Given the description of an element on the screen output the (x, y) to click on. 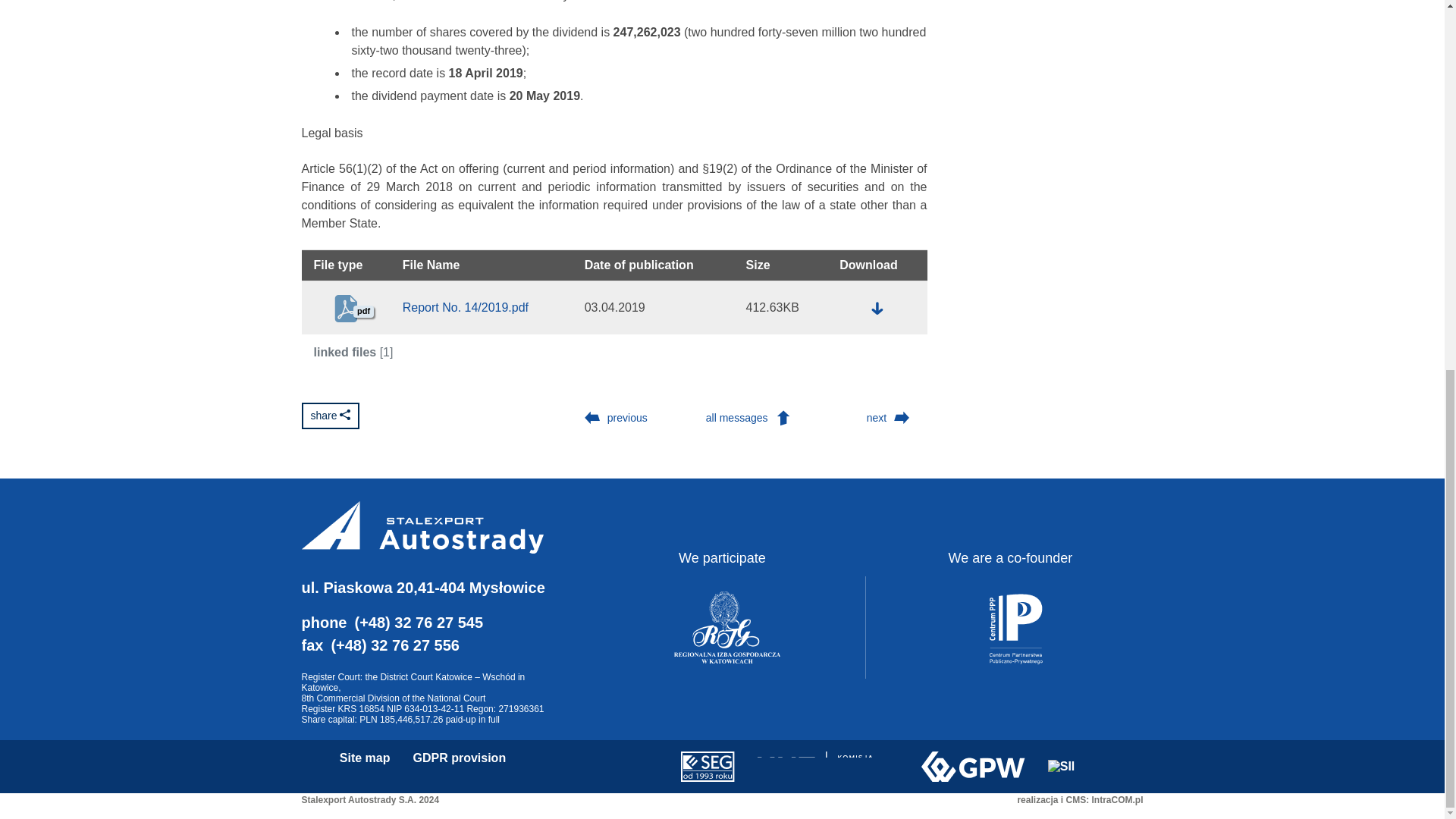
next (892, 417)
File type: pdf, Size: 412.63KB (877, 308)
all messages (752, 417)
Site map (364, 757)
share (330, 415)
previous (612, 417)
Komisja Nadzoru Finansowego (827, 766)
list all messages (752, 417)
GDPR provision (458, 757)
SEG (708, 766)
